Given the description of an element on the screen output the (x, y) to click on. 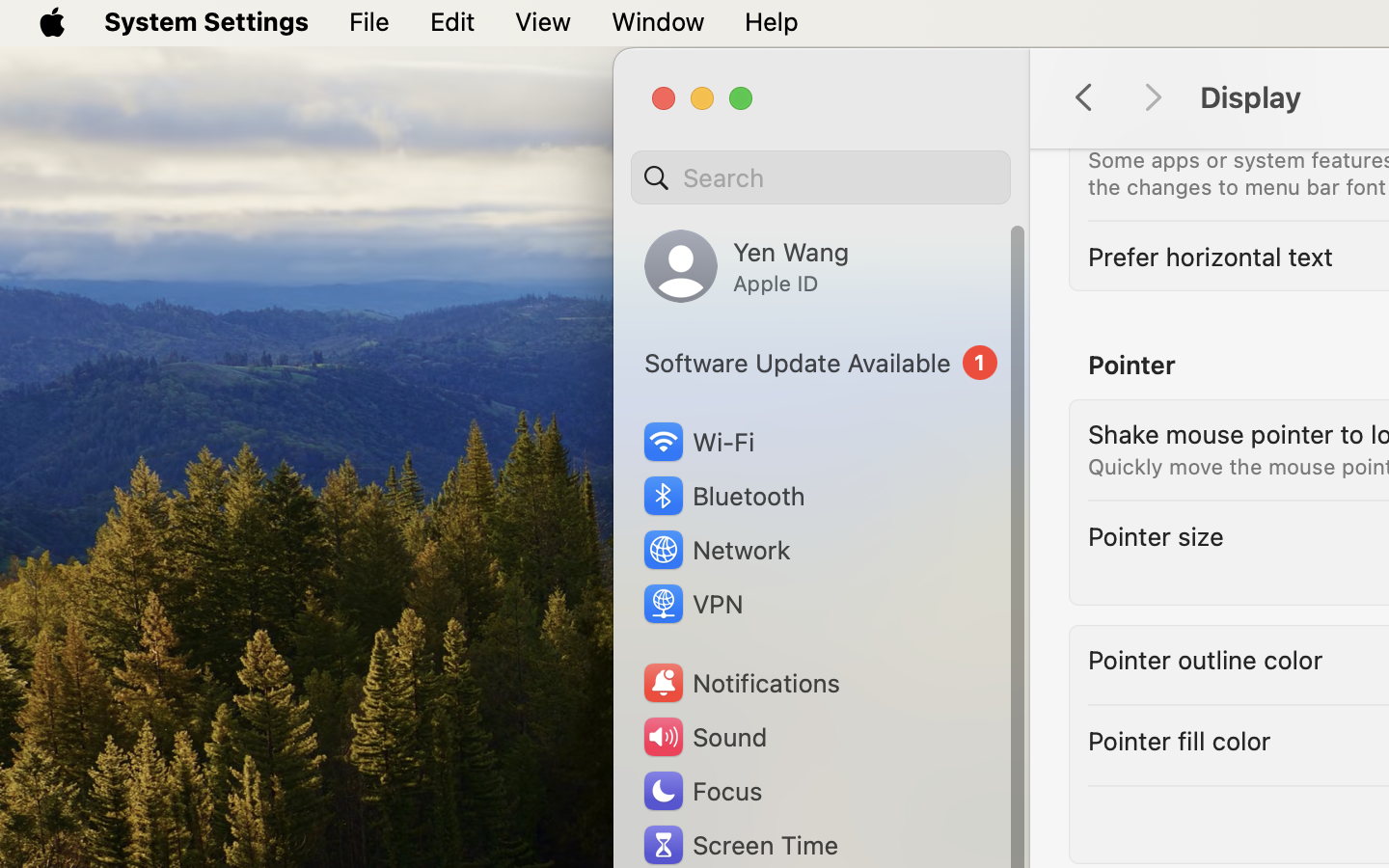
Screen Time Element type: AXStaticText (739, 844)
Prefer horizontal text Element type: AXStaticText (1210, 256)
Menu bar size Element type: AXStaticText (1170, 126)
Pointer outline color Element type: AXStaticText (1205, 659)
Bluetooth Element type: AXStaticText (723, 495)
